Given the description of an element on the screen output the (x, y) to click on. 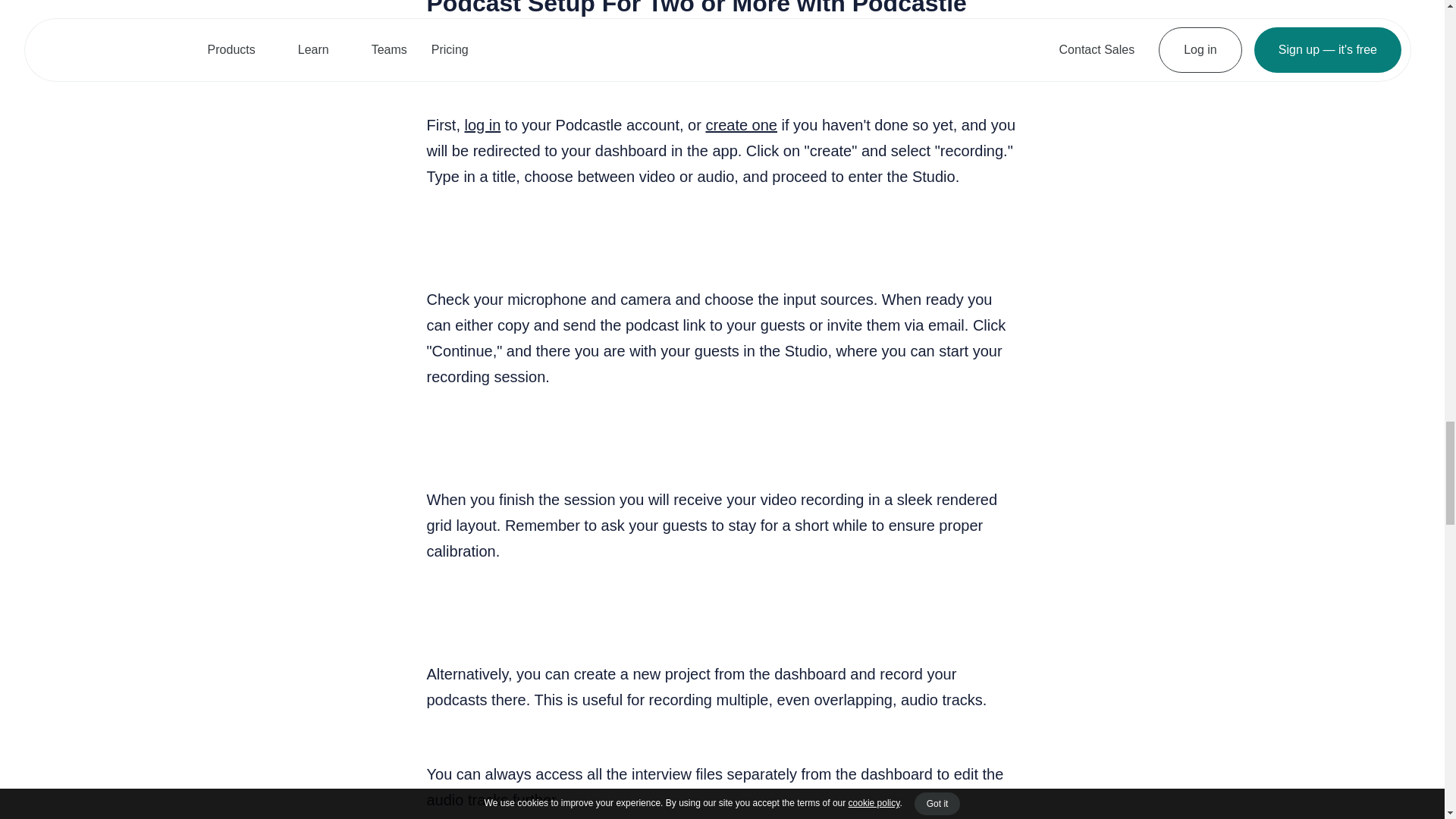
log in (482, 125)
create one (740, 125)
